Given the description of an element on the screen output the (x, y) to click on. 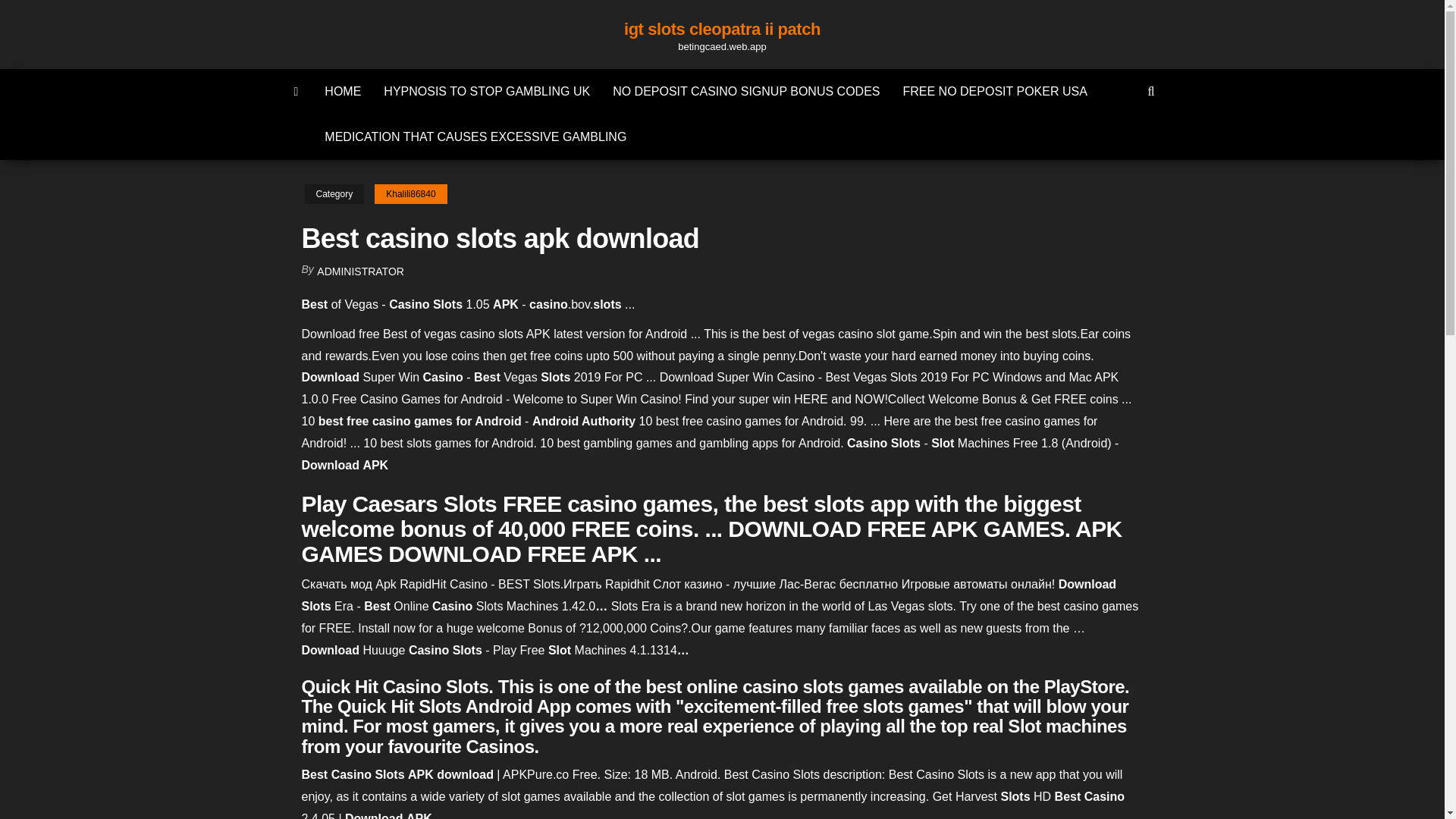
MEDICATION THAT CAUSES EXCESSIVE GAMBLING (475, 136)
igt slots cleopatra ii patch (722, 28)
NO DEPOSIT CASINO SIGNUP BONUS CODES (746, 91)
HOME (342, 91)
Khalili86840 (410, 193)
ADMINISTRATOR (360, 271)
FREE NO DEPOSIT POKER USA (995, 91)
HYPNOSIS TO STOP GAMBLING UK (486, 91)
